Given the description of an element on the screen output the (x, y) to click on. 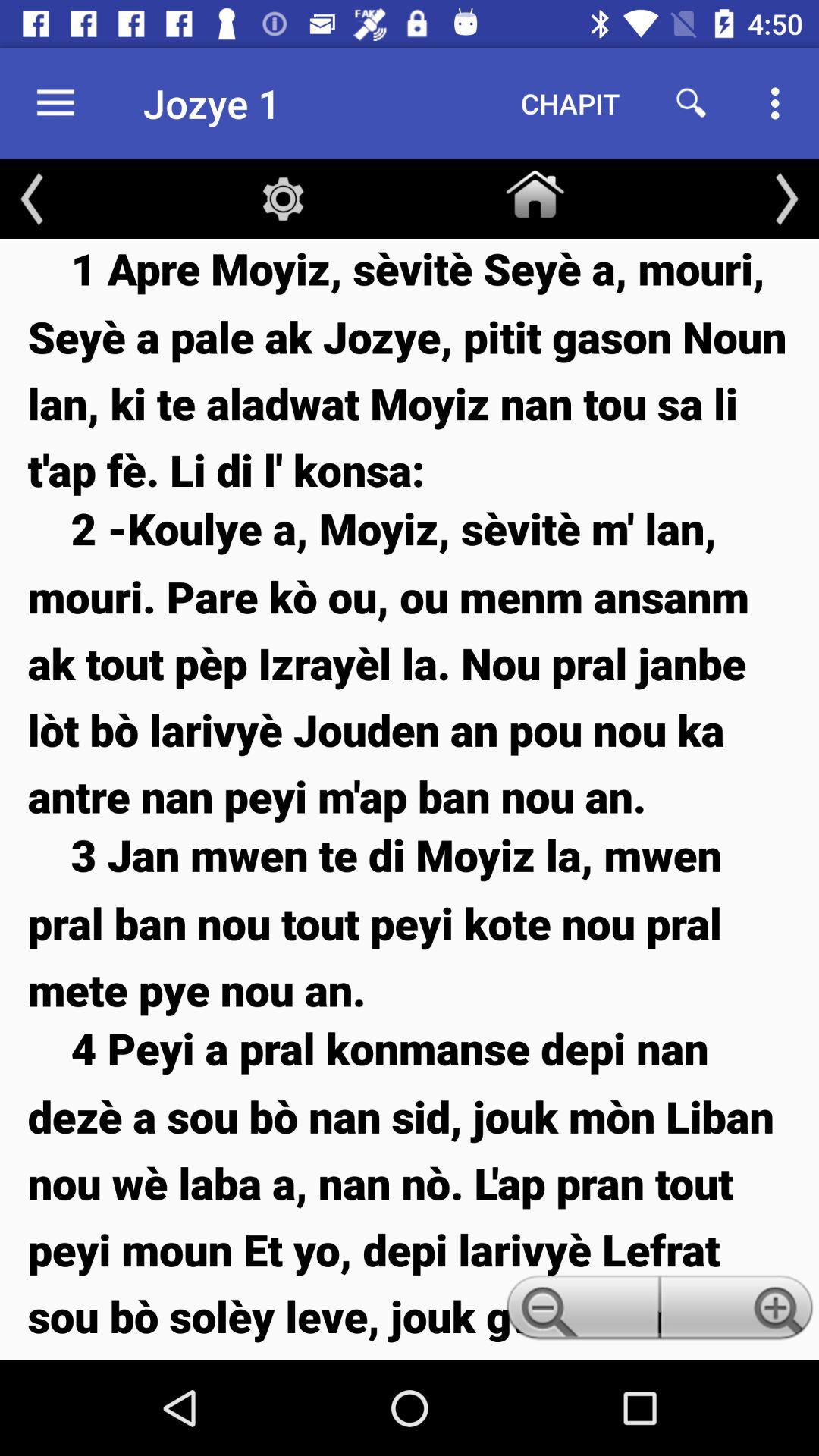
press icon below 3 jan mwen icon (409, 1189)
